Given the description of an element on the screen output the (x, y) to click on. 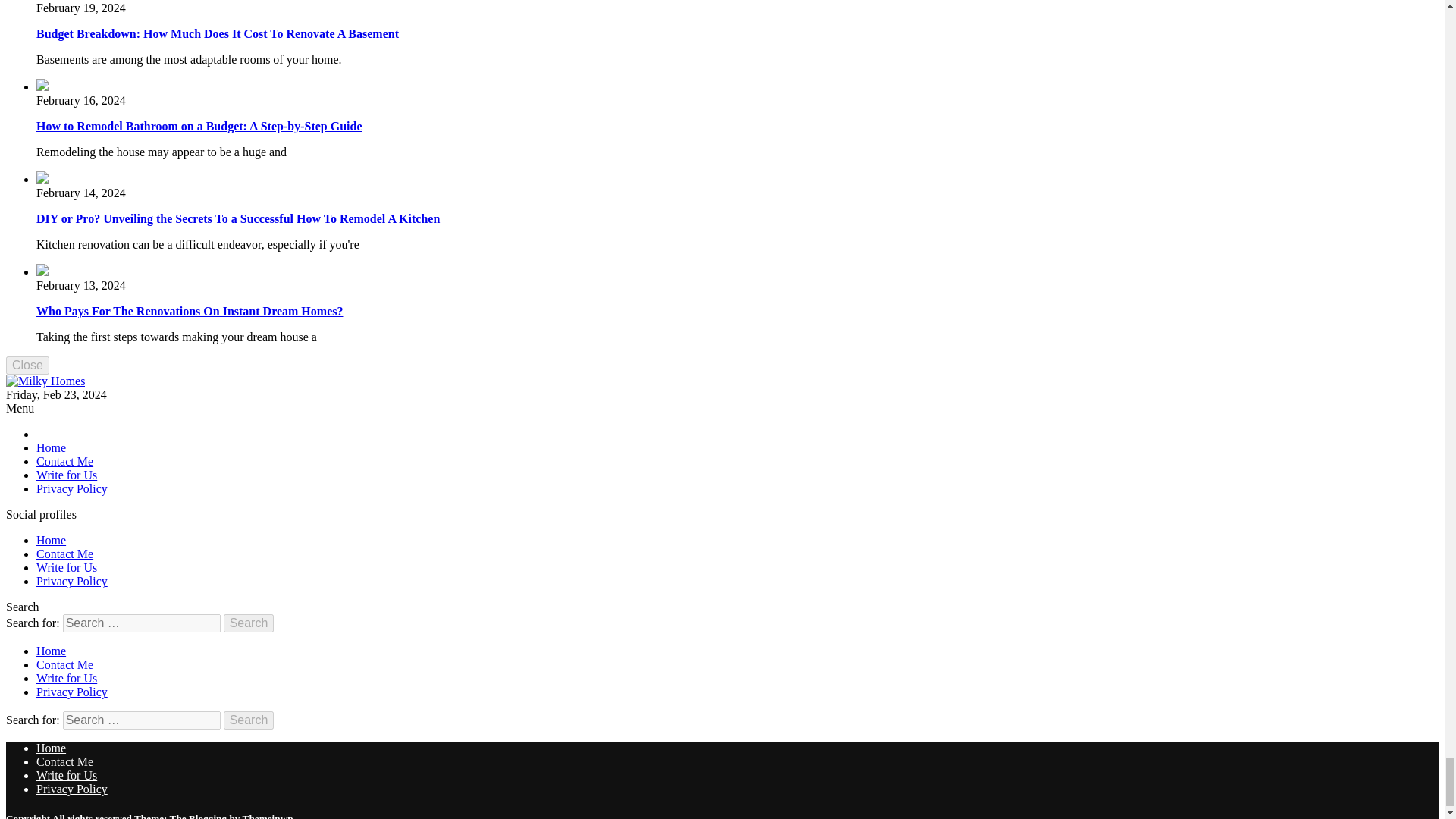
Search (249, 720)
Search (249, 720)
Search (249, 623)
Search (249, 623)
